Given the description of an element on the screen output the (x, y) to click on. 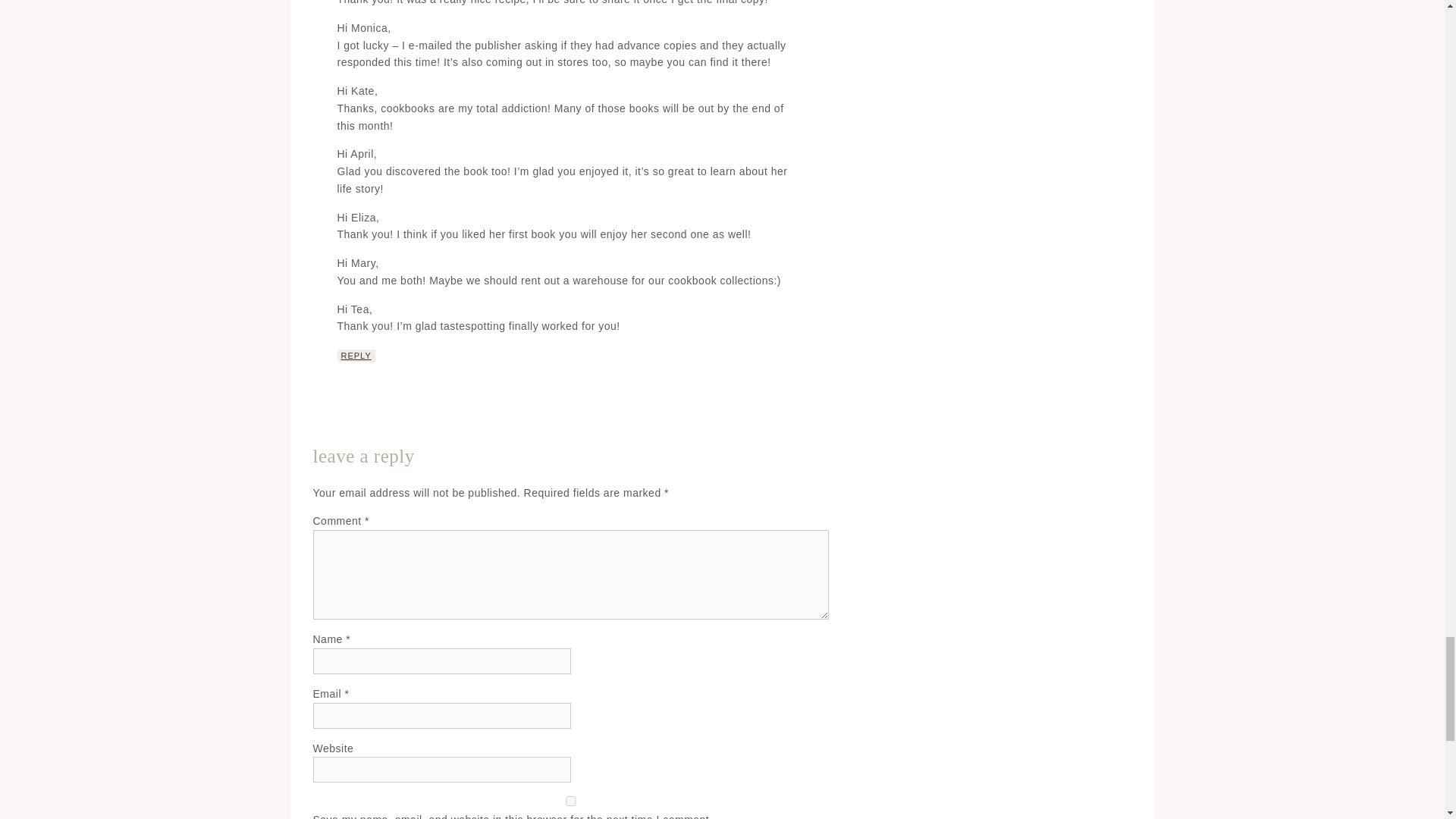
yes (570, 800)
